Given the description of an element on the screen output the (x, y) to click on. 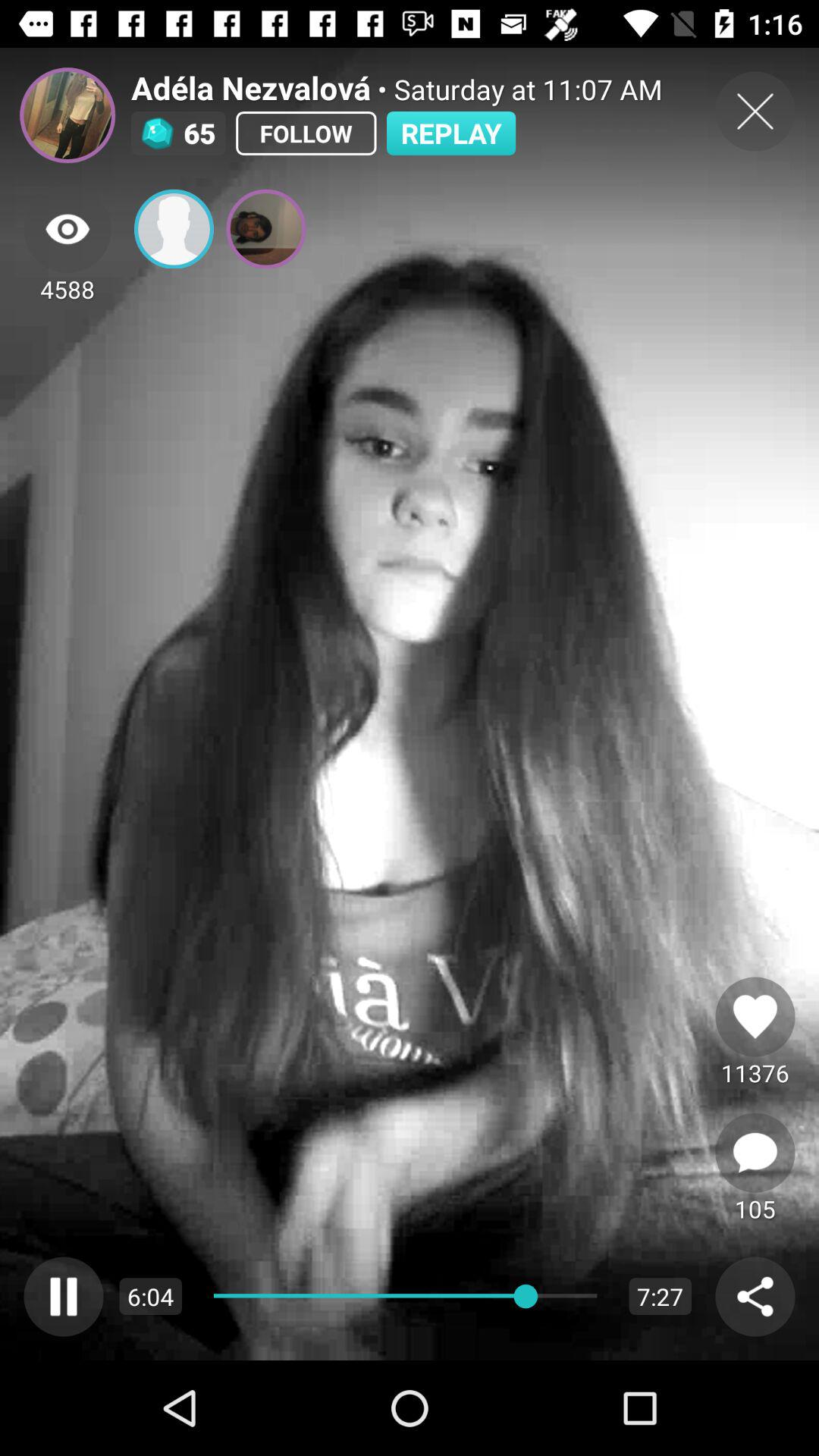
share post (755, 1296)
